Given the description of an element on the screen output the (x, y) to click on. 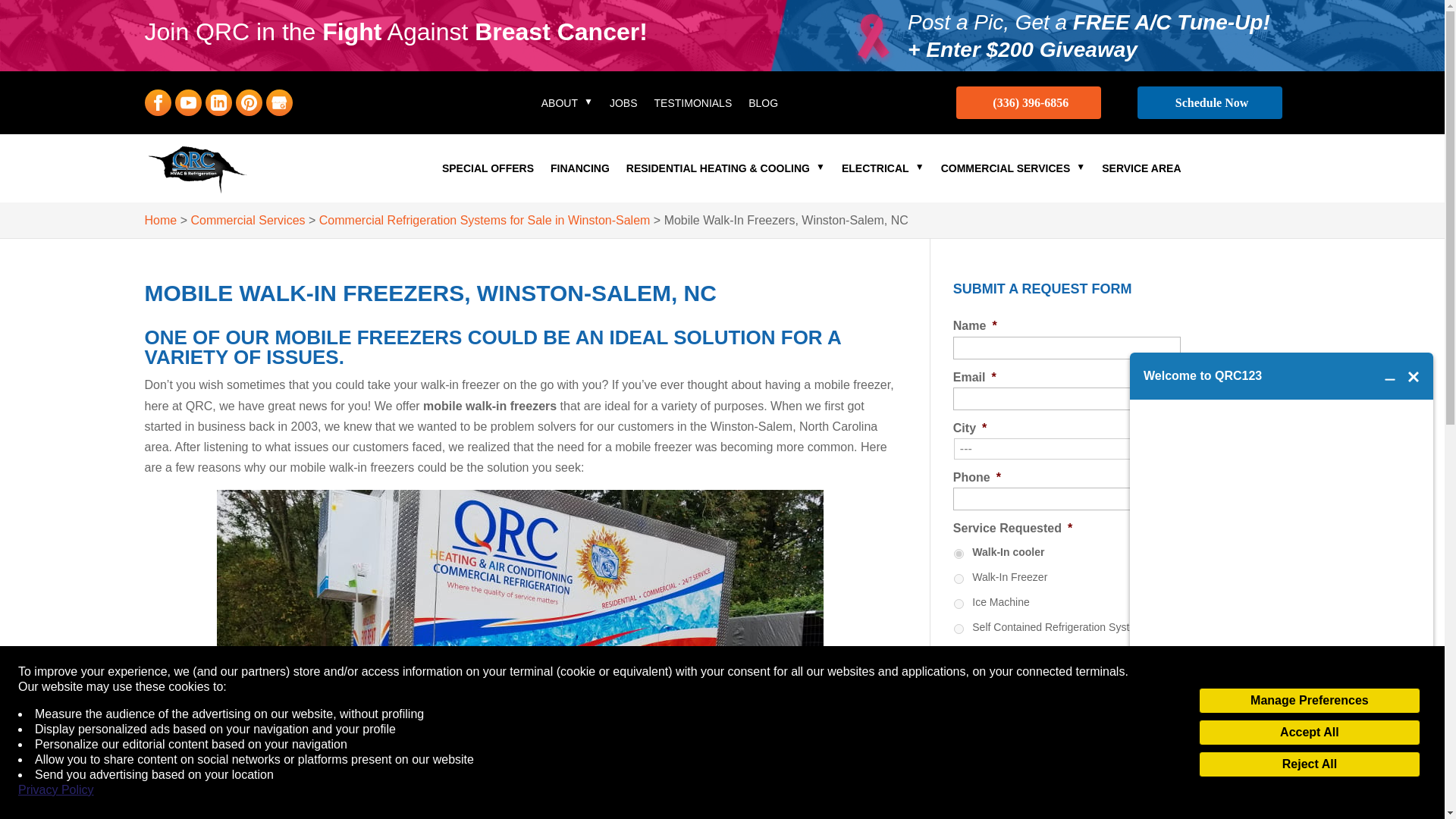
Manage Preferences (1309, 700)
Walk-In Freezer (958, 578)
FINANCING (580, 170)
Schedule Now (1209, 102)
Self Contained Refrigeration System (958, 628)
BLOG (762, 105)
New Customer (958, 754)
SPECIAL OFFERS (488, 170)
Privacy Policy (55, 789)
TESTIMONIALS (692, 105)
Accept All (1309, 732)
Reject All (1309, 764)
ABOUT (566, 105)
Walk-In cooler (958, 553)
Air Conditioning (958, 678)
